Given the description of an element on the screen output the (x, y) to click on. 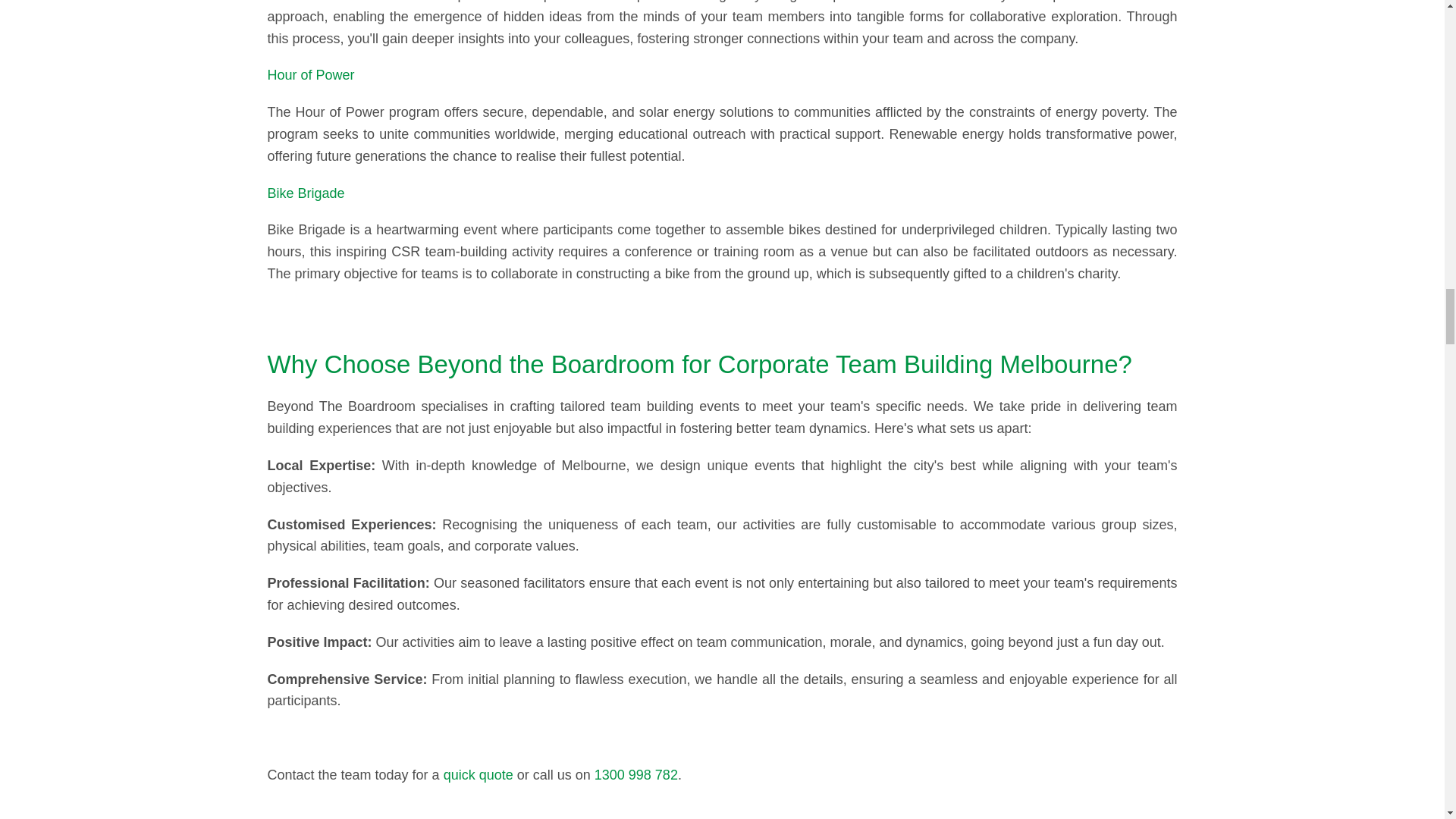
Hour of Power (309, 74)
quick quote (478, 774)
Bike Brigade (304, 192)
1300 998 782 (636, 774)
